Given the description of an element on the screen output the (x, y) to click on. 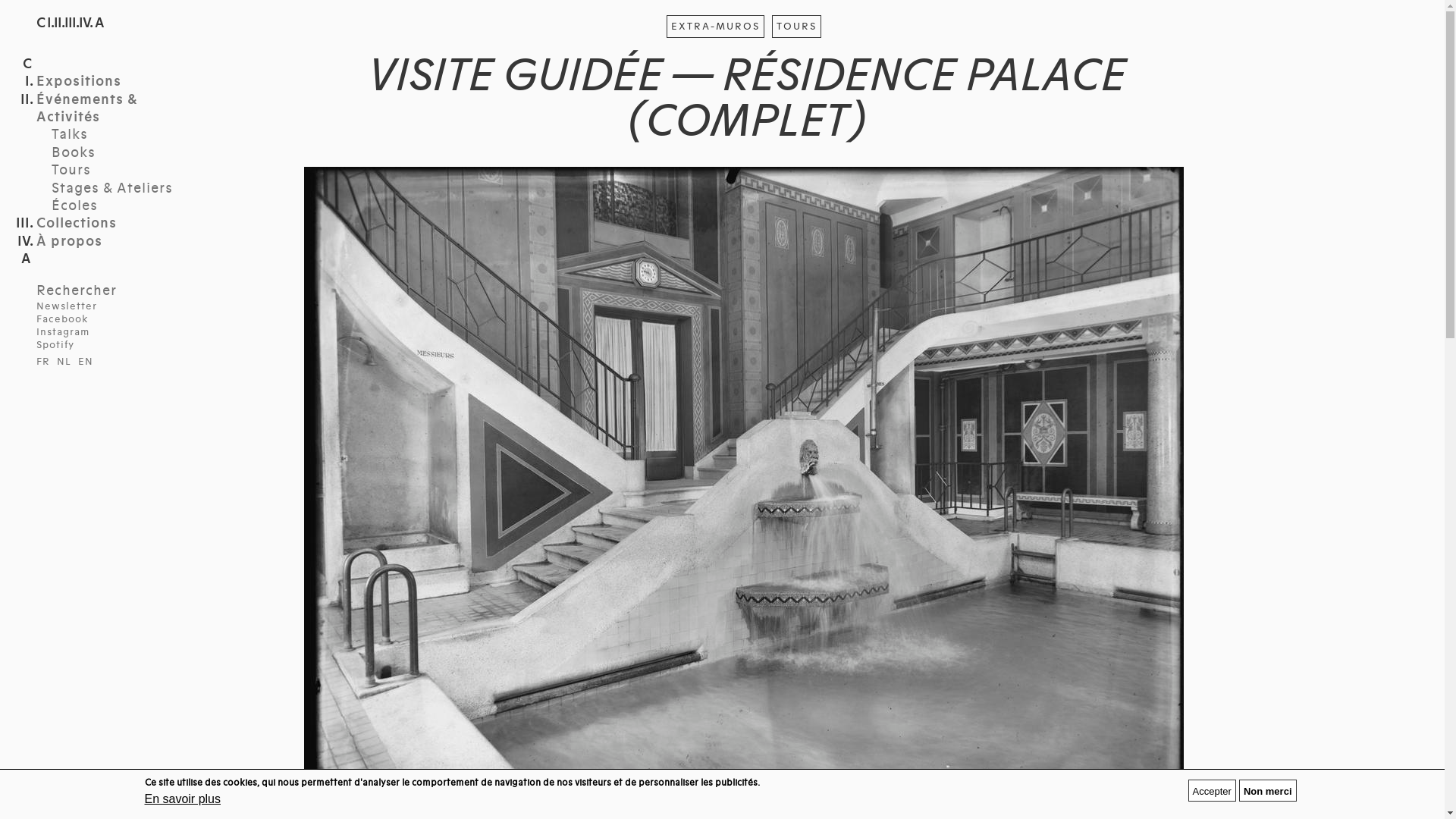
Rechercher Element type: text (76, 290)
FR Element type: text (43, 361)
Newsletter Element type: text (66, 306)
Spotify Element type: text (55, 344)
Expositions Element type: text (108, 81)
C I.II.III.IV. A Element type: text (69, 22)
Facebook Element type: text (62, 319)
Rechercher Element type: text (82, 336)
Collections Element type: text (108, 223)
EXTRA-MUROS Element type: text (715, 26)
Stages & Ateliers Element type: text (115, 188)
Books Element type: text (115, 152)
Non merci Element type: text (1267, 790)
Talks Element type: text (115, 134)
En savoir plus Element type: text (182, 799)
NL Element type: text (63, 361)
Tours Element type: text (115, 169)
Instagram Element type: text (62, 332)
Accepter Element type: text (1212, 790)
EN Element type: text (85, 361)
TOURS Element type: text (796, 26)
